Given the description of an element on the screen output the (x, y) to click on. 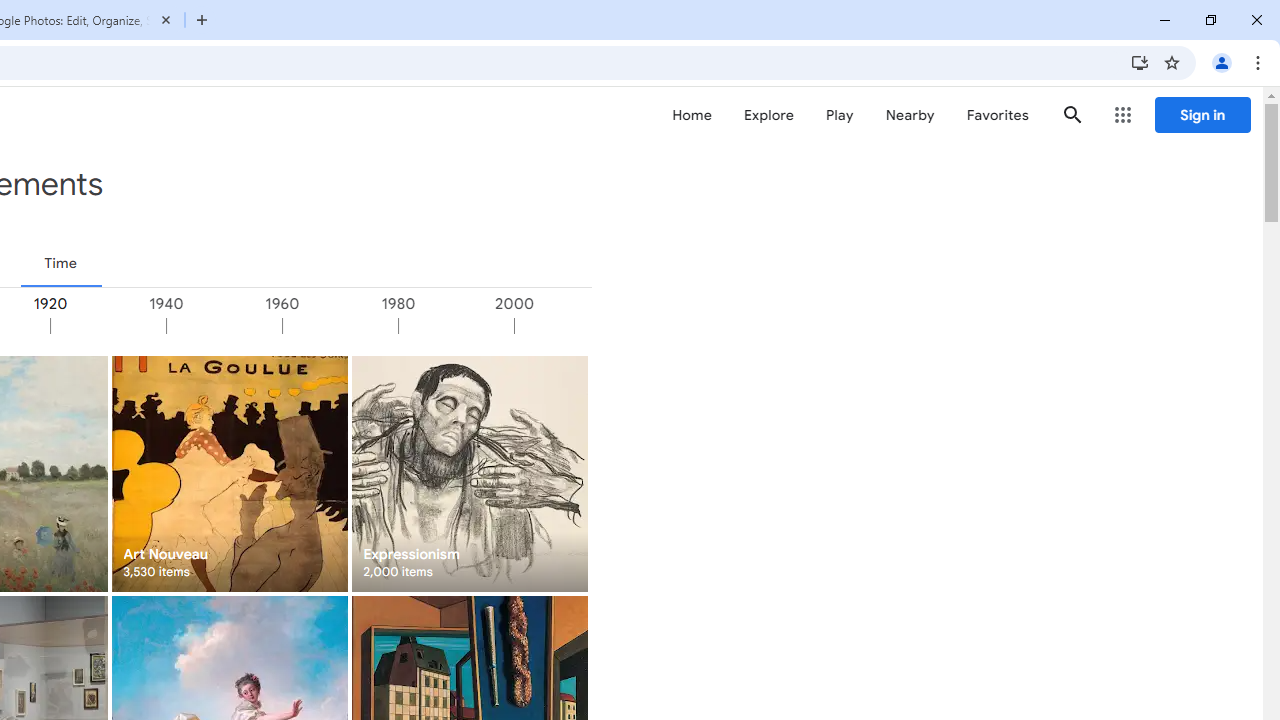
Install Google Arts & Culture (1139, 62)
1960 (339, 326)
2000 (571, 326)
Favorites (996, 115)
1940 (223, 326)
1980 (455, 326)
1920 (107, 326)
Time (60, 263)
Play (840, 115)
